Given the description of an element on the screen output the (x, y) to click on. 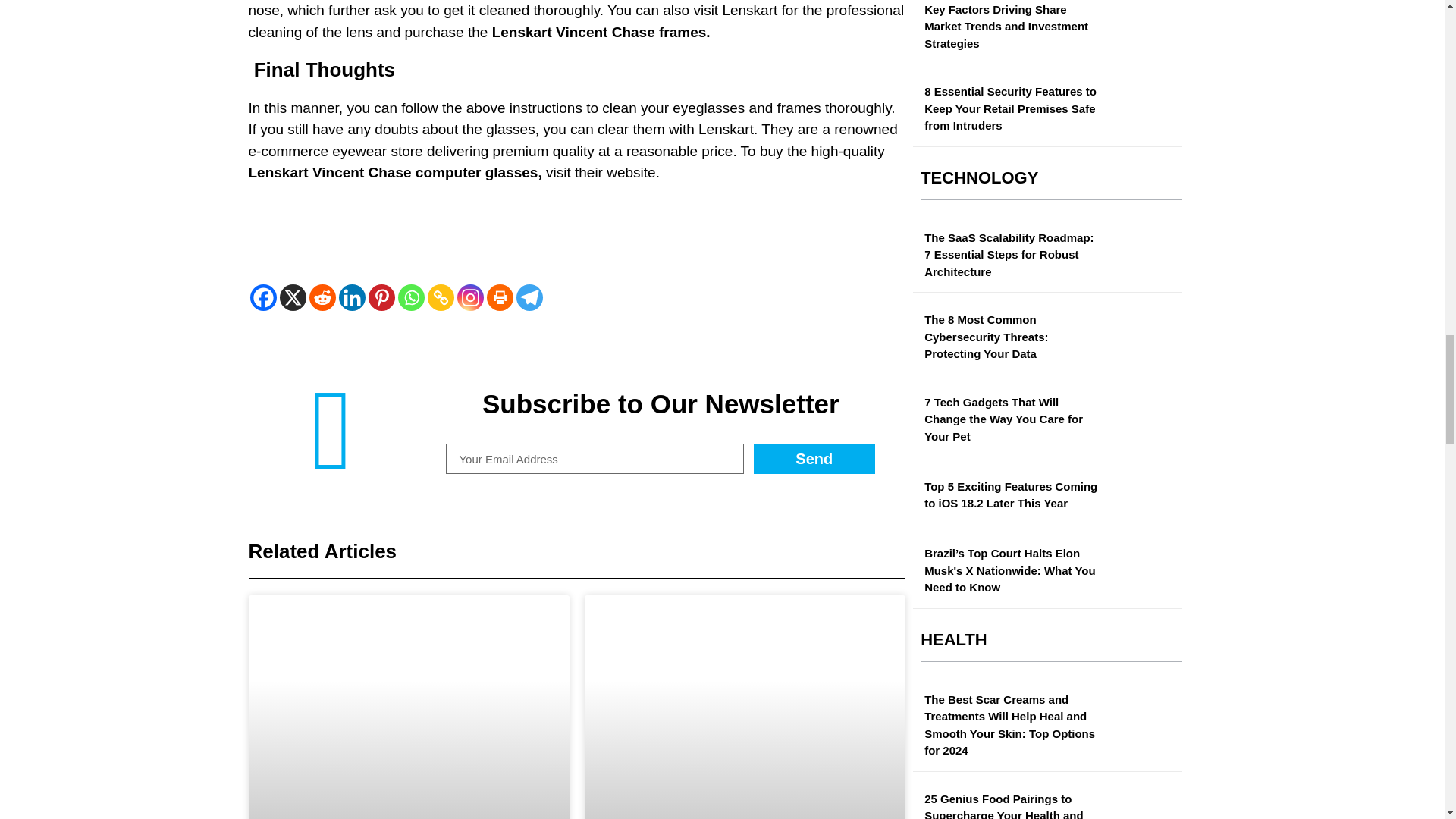
Linkedin (351, 297)
Whatsapp (410, 297)
Copy Link (441, 297)
X (292, 297)
Facebook (263, 297)
Pinterest (381, 297)
Instagram (470, 297)
Reddit (322, 297)
